Given the description of an element on the screen output the (x, y) to click on. 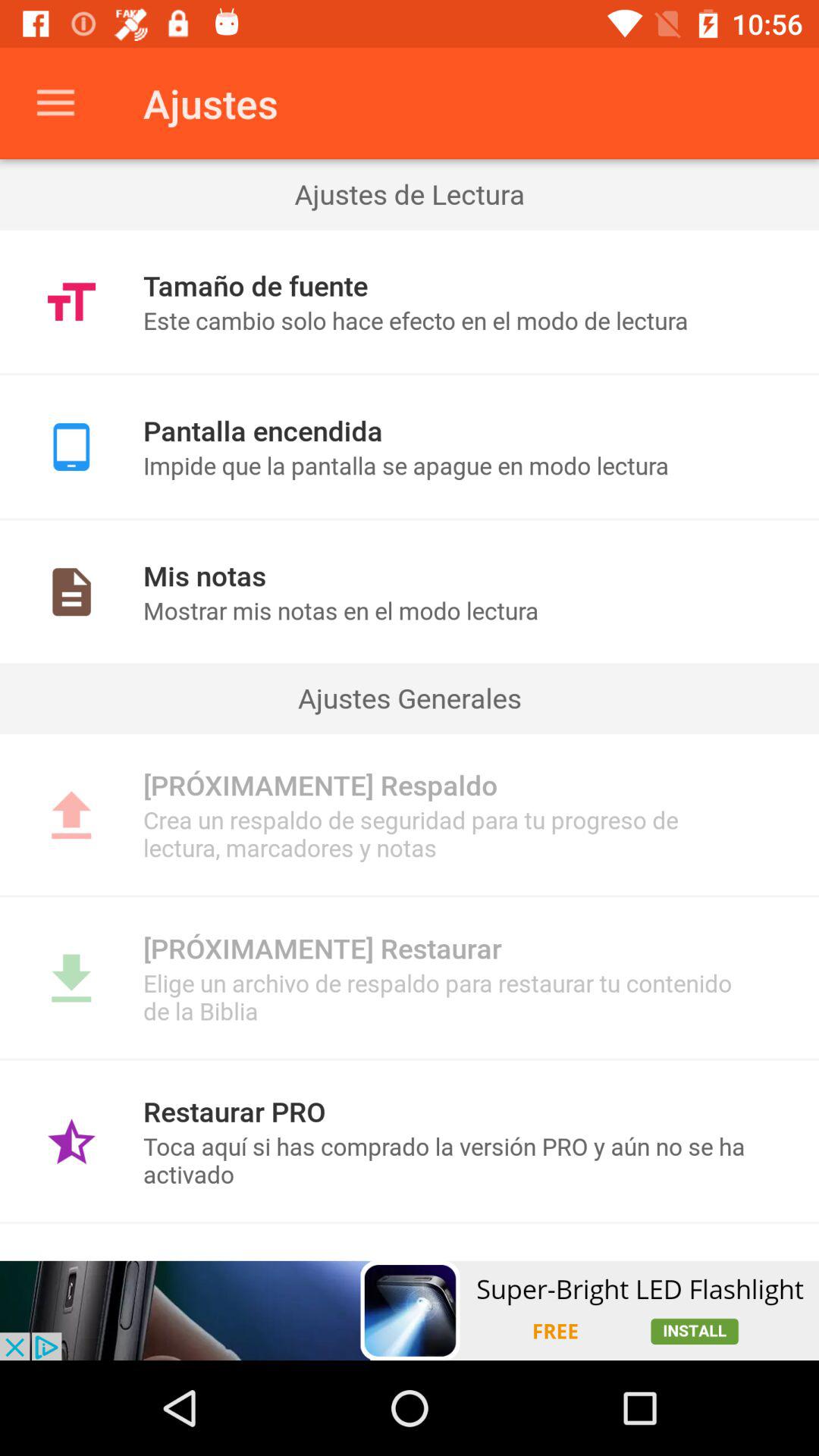
select the icon below mostrar mis notas (409, 697)
